Given the description of an element on the screen output the (x, y) to click on. 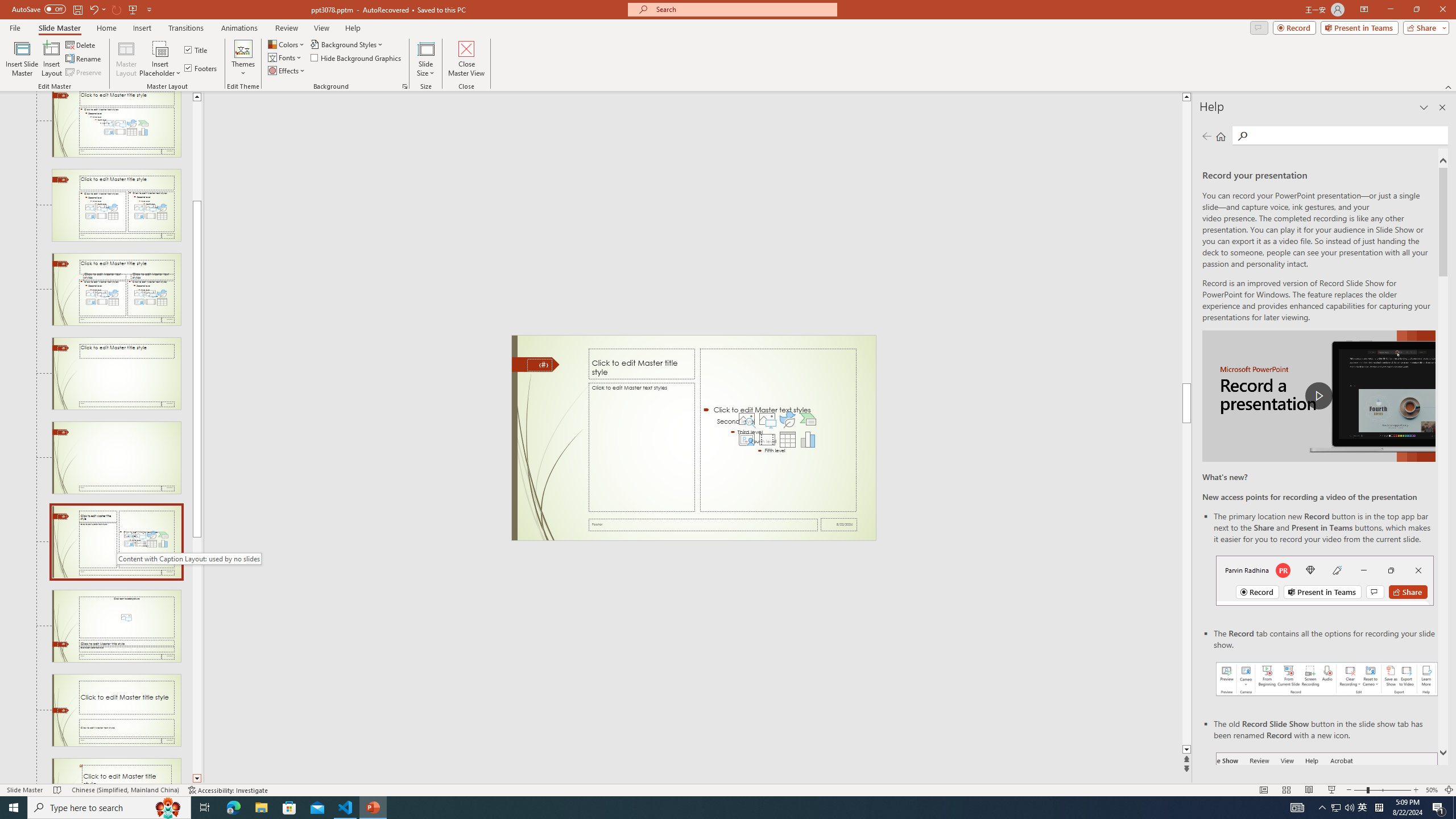
Slide Title Only Layout: used by no slides (116, 373)
Slide Content with Caption Layout: used by no slides (116, 542)
Slide Number (539, 364)
Slide Comparison Layout: used by no slides (116, 289)
Fonts (285, 56)
Background Styles (347, 44)
Record button in top bar (1324, 580)
